Given the description of an element on the screen output the (x, y) to click on. 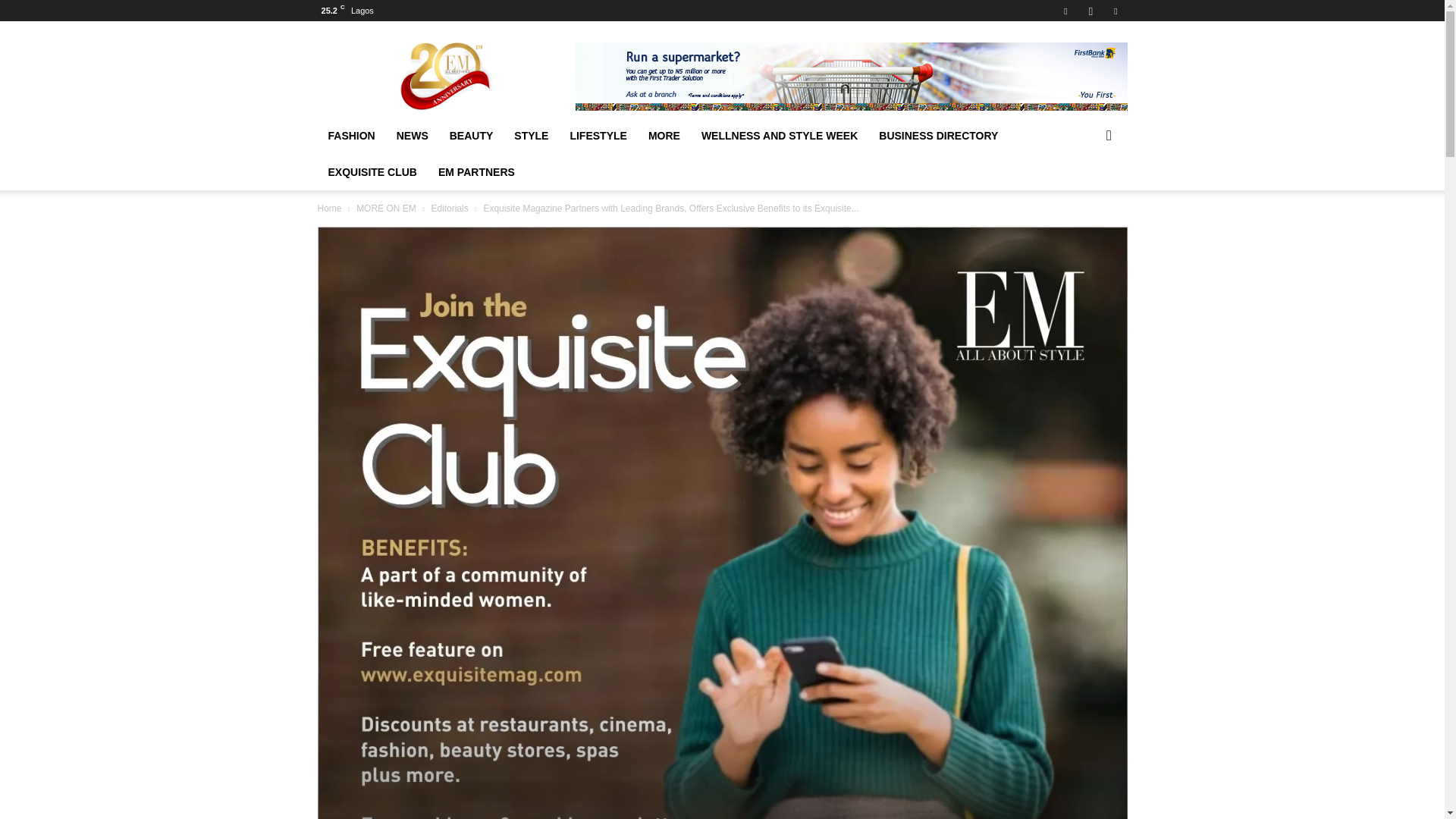
Facebook (1065, 10)
View all posts in Editorials (448, 208)
View all posts in MORE ON EM (386, 208)
Twitter (1114, 10)
Instagram (1090, 10)
